Given the description of an element on the screen output the (x, y) to click on. 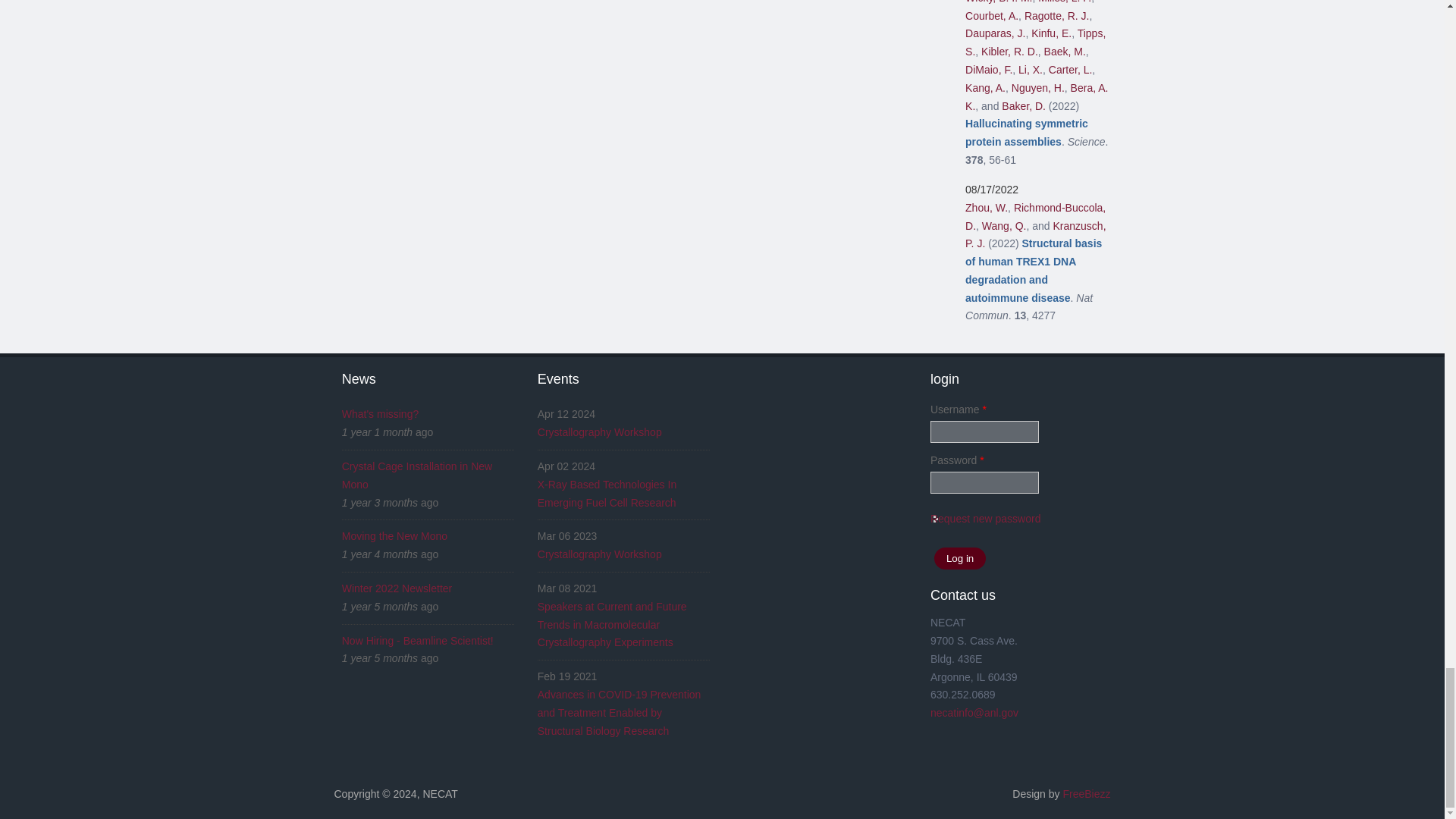
Log in (959, 558)
